Given the description of an element on the screen output the (x, y) to click on. 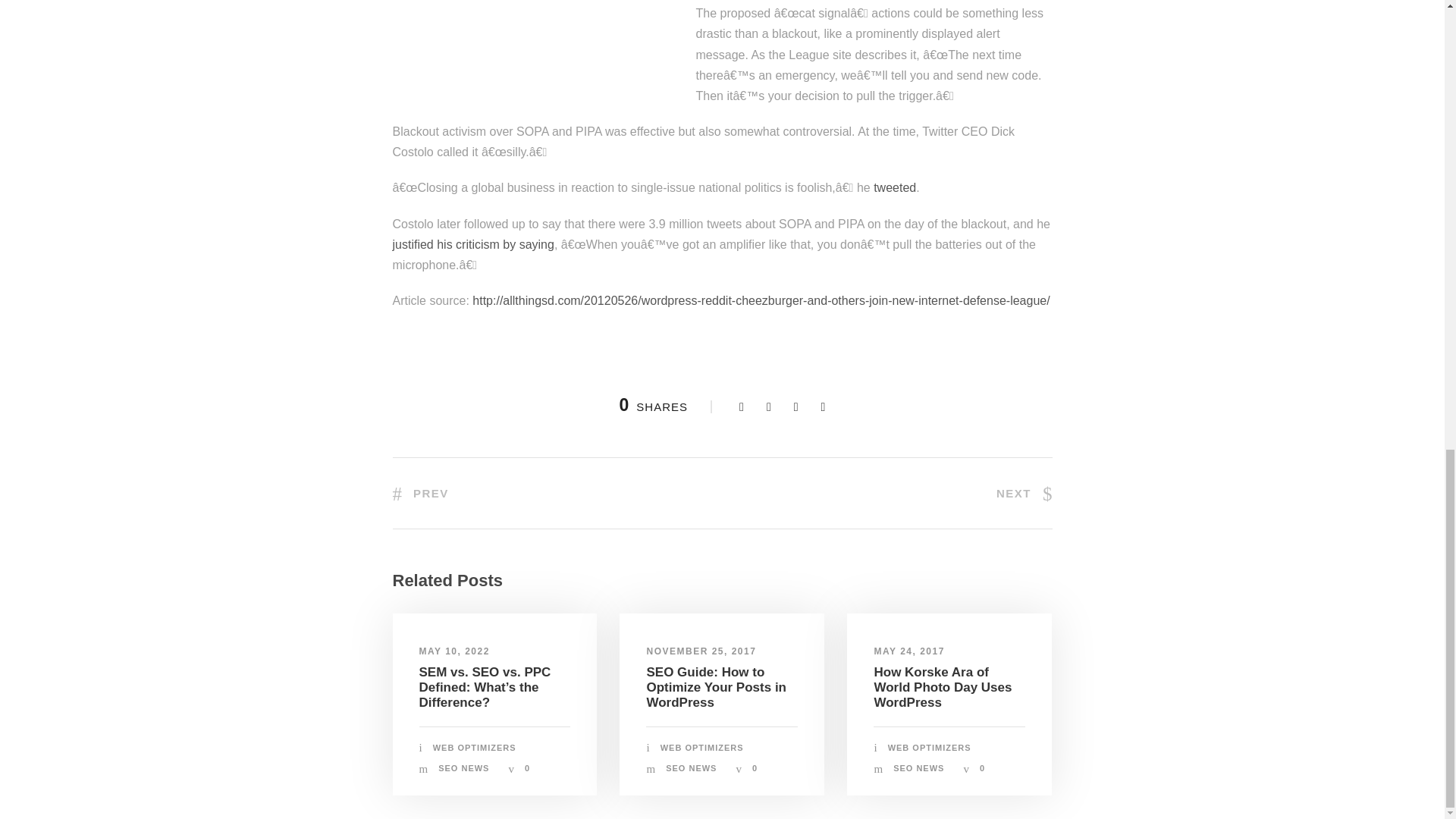
Posts by Web Optimizers (474, 747)
WEB OPTIMIZERS (474, 747)
tweeted (894, 187)
Posts by Web Optimizers (929, 747)
justified his criticism by saying (473, 244)
NEXT (1023, 492)
PREV (420, 492)
Posts by Web Optimizers (702, 747)
MAY 10, 2022 (454, 651)
